Given the description of an element on the screen output the (x, y) to click on. 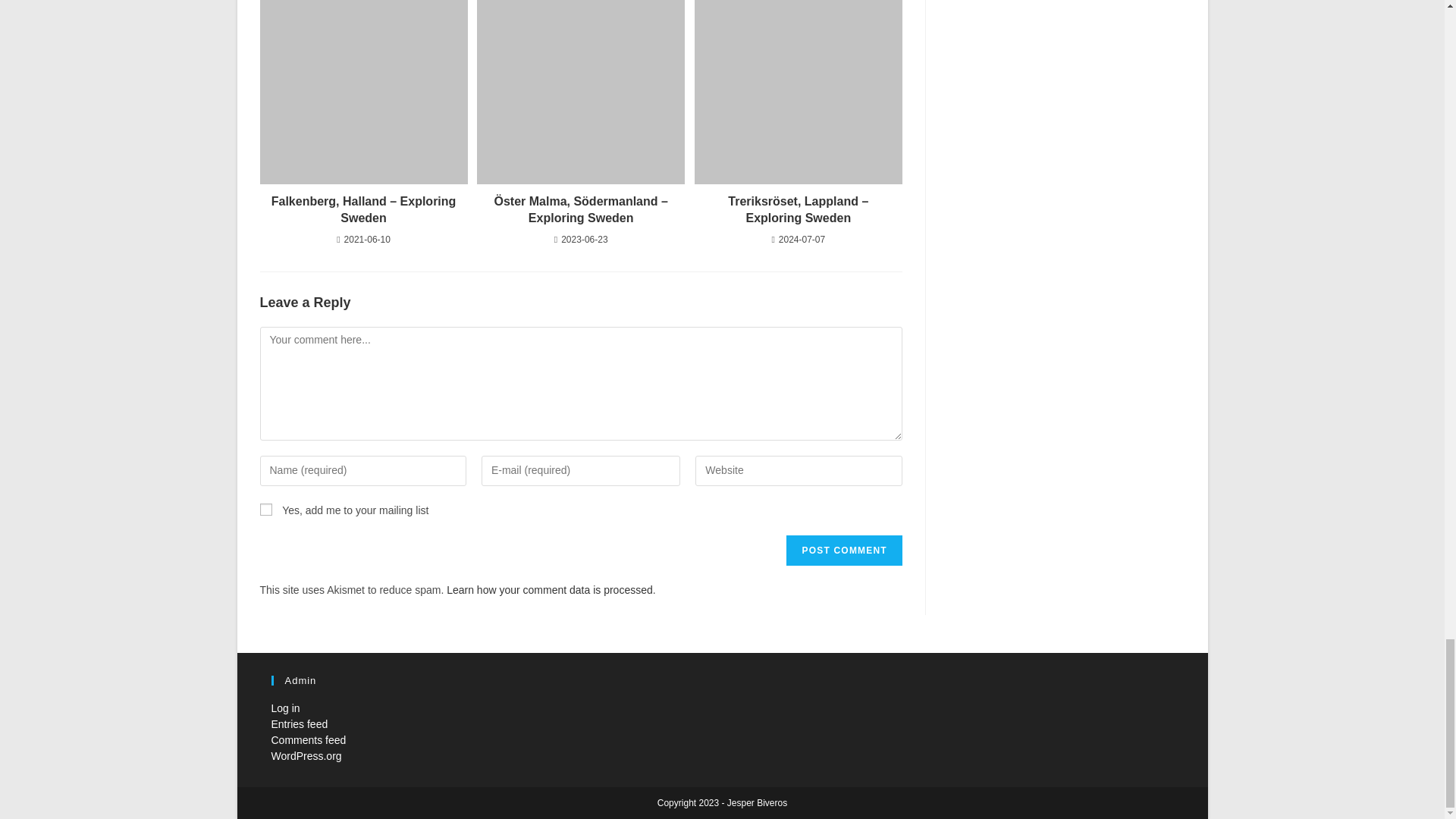
Post Comment (843, 550)
1 (264, 509)
